Given the description of an element on the screen output the (x, y) to click on. 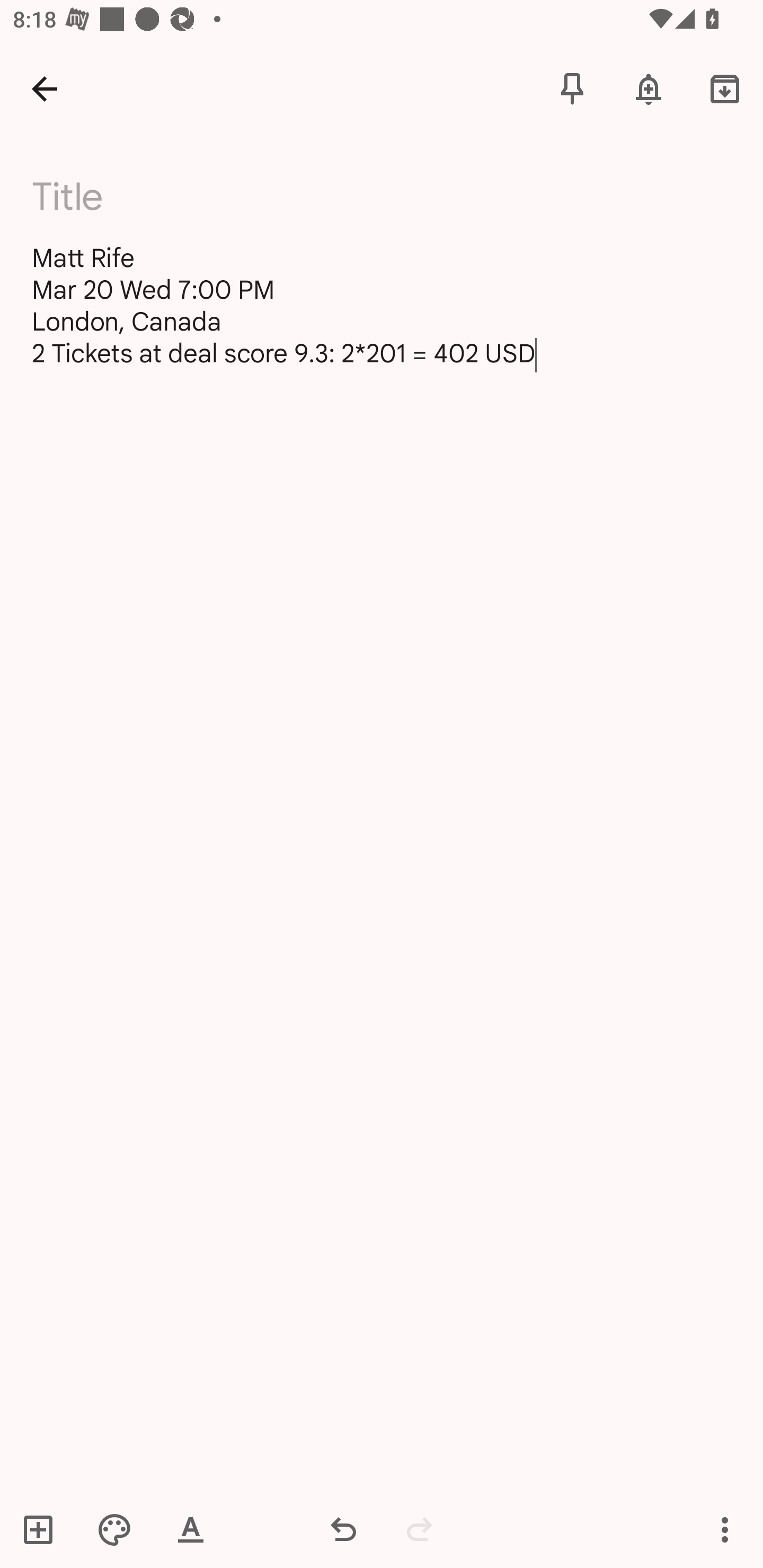
Navigate up (44, 88)
Pin (572, 88)
Reminder (648, 88)
Archive (724, 88)
Title (392, 196)
New list (44, 1529)
Theme (114, 1529)
Show formatting controls (190, 1529)
Undo (343, 1529)
Redo (419, 1529)
Action (724, 1529)
